Given the description of an element on the screen output the (x, y) to click on. 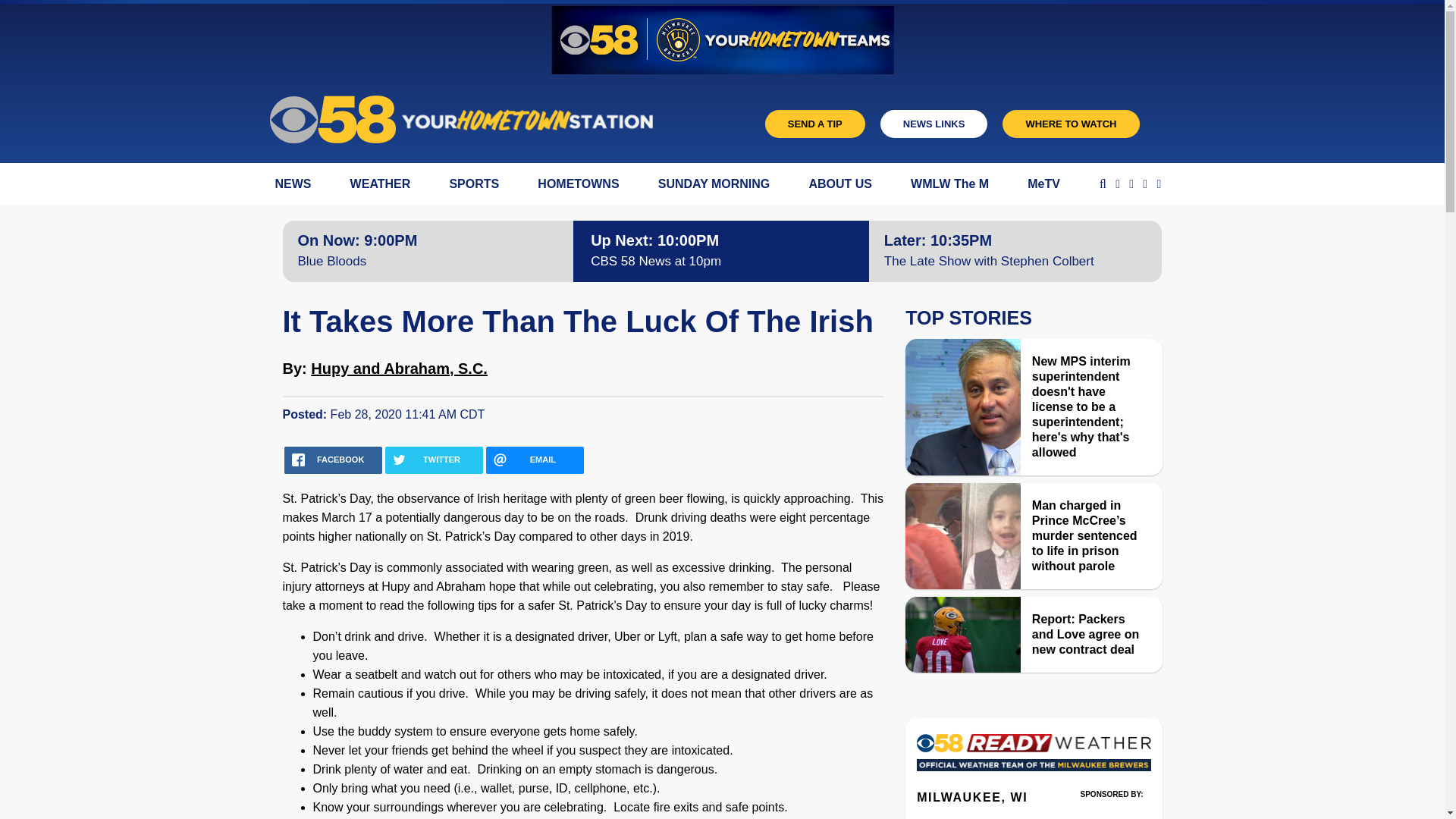
Weather (1033, 757)
3rd party ad content (1112, 811)
